Given the description of an element on the screen output the (x, y) to click on. 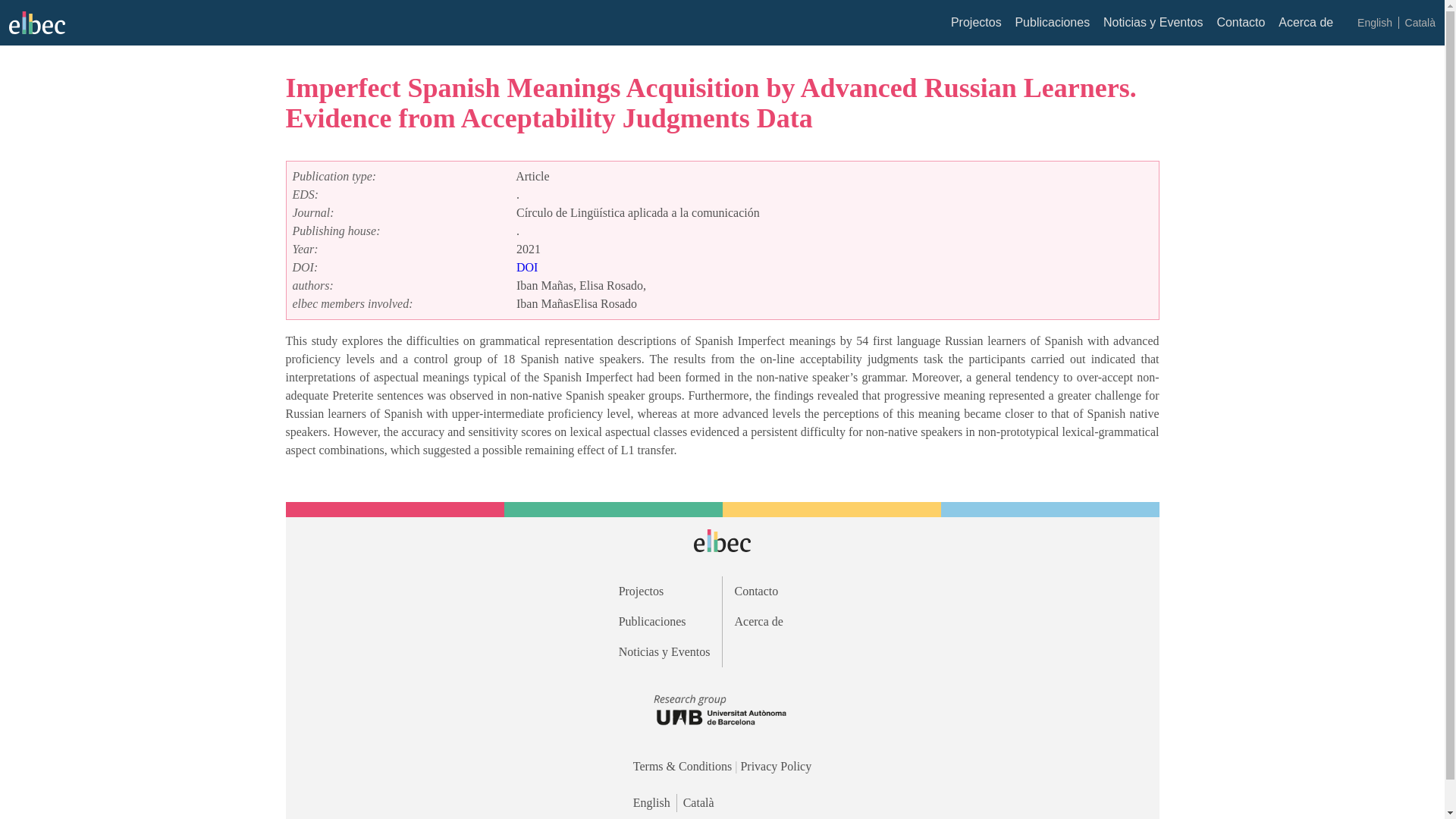
Acerca de (1305, 21)
Acerca de (779, 621)
Noticias y Eventos (664, 651)
DOI (526, 267)
Noticias y Eventos (1153, 21)
English (655, 802)
Projectos (664, 591)
Publicaciones (664, 621)
Contacto (779, 591)
English (1373, 22)
Publicaciones (1051, 21)
Projectos (975, 21)
Contacto (1240, 21)
Privacy Policy (774, 766)
